Given the description of an element on the screen output the (x, y) to click on. 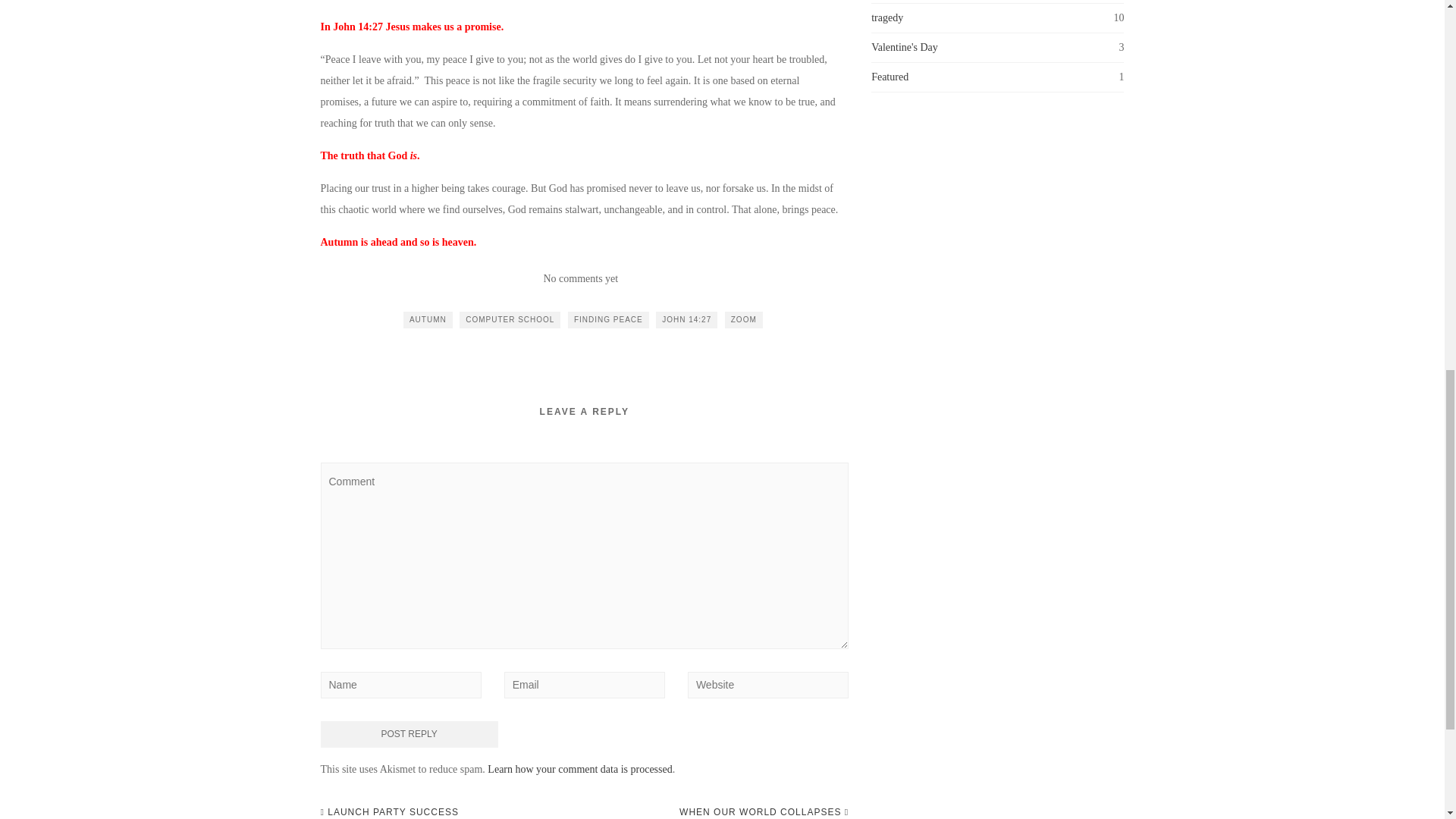
No comments yet (580, 278)
Post Reply (408, 734)
COMPUTER SCHOOL (510, 320)
WHEN OUR WORLD COLLAPSES (763, 811)
JOHN 14:27 (686, 320)
LAUNCH PARTY SUCCESS (389, 811)
AUTUMN (427, 320)
ZOOM (743, 320)
FINDING PEACE (608, 320)
Learn how your comment data is processed (579, 768)
